Given the description of an element on the screen output the (x, y) to click on. 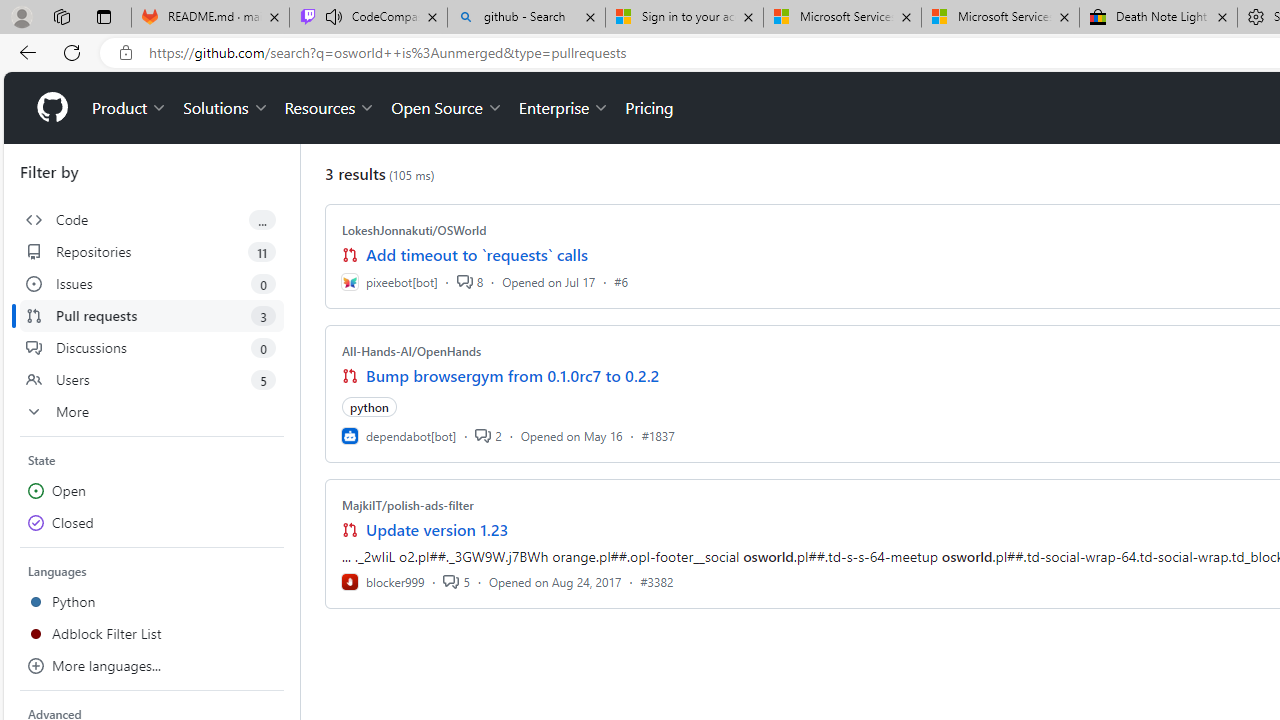
Update version 1.23 (437, 529)
Bump browsergym from 0.1.0rc7 to 0.2.2 (513, 376)
#6 (621, 281)
pixeebot[bot] (389, 281)
All-Hands-AI/OpenHands (411, 351)
